Given the description of an element on the screen output the (x, y) to click on. 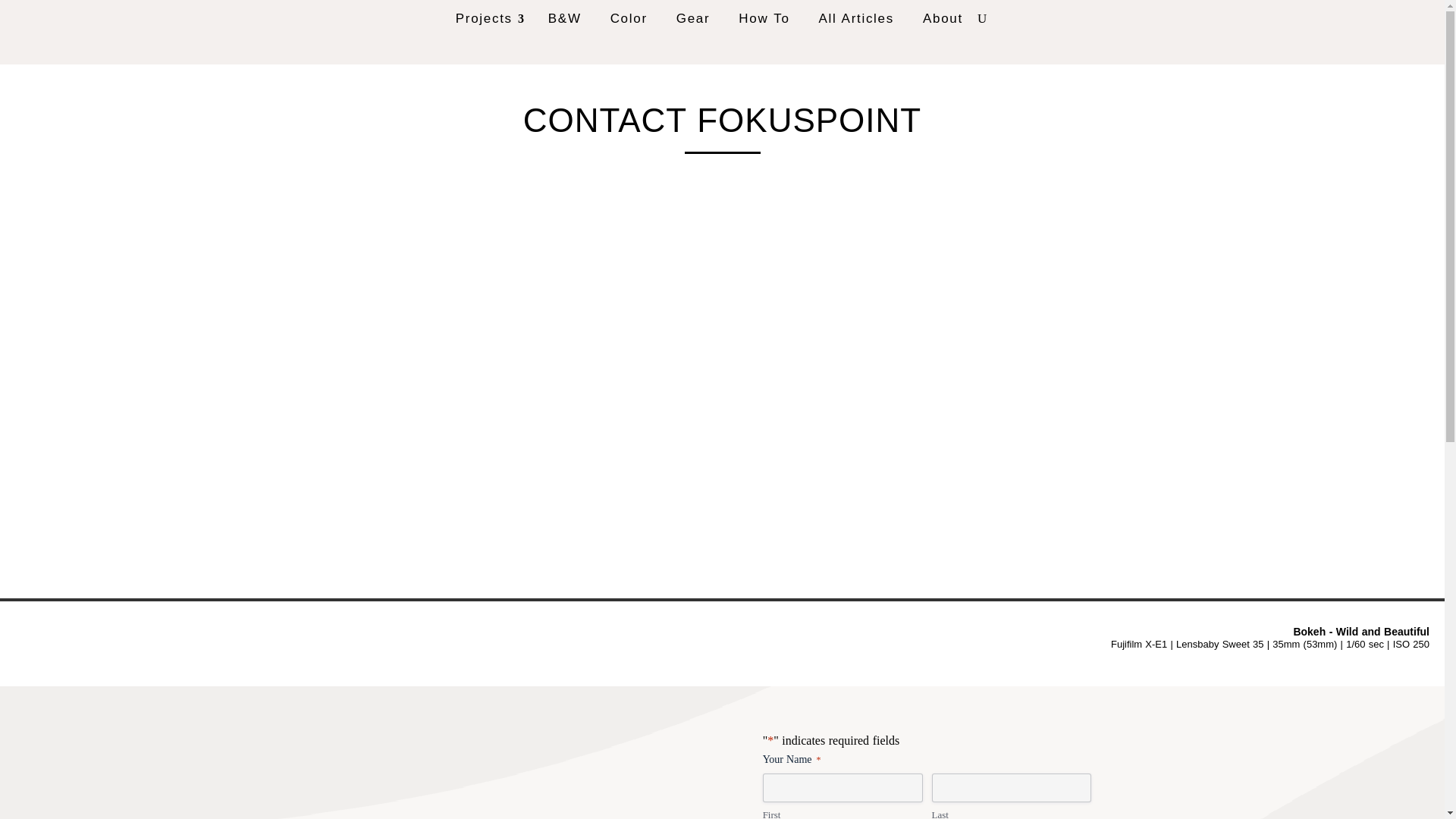
Gear (692, 18)
Projects (487, 18)
About (943, 18)
All Articles (855, 18)
How To (763, 18)
Color (628, 18)
